Given the description of an element on the screen output the (x, y) to click on. 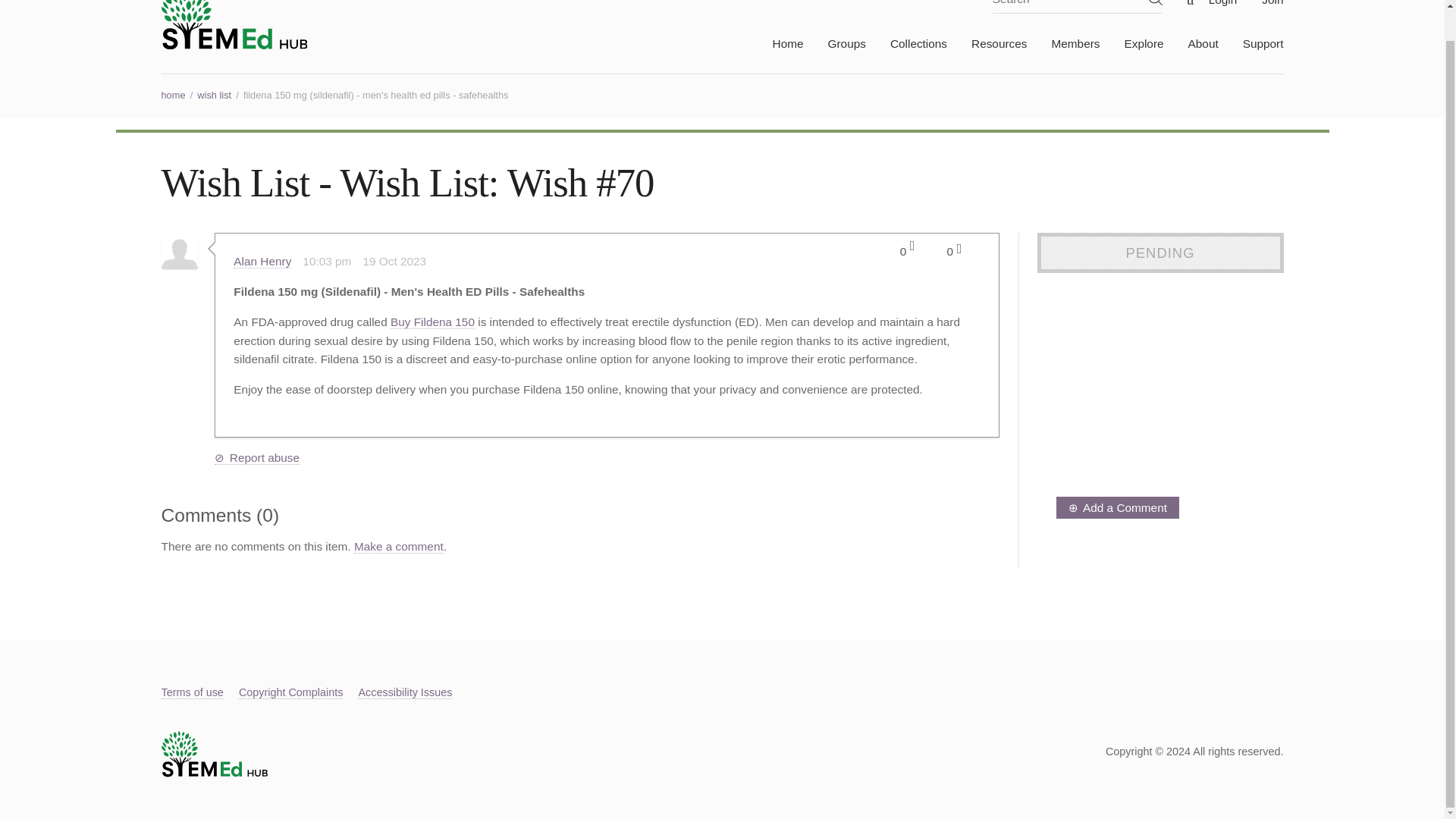
Vote down :: Please login to vote. (958, 249)
Alan Henry (261, 261)
Vote up :: Please login to vote. (912, 249)
wish list (213, 94)
Members (1062, 49)
Collections (906, 49)
Resources (986, 49)
stemedhub (213, 773)
About (1190, 49)
Explore (1131, 49)
Login (1211, 6)
Link to this entry (360, 260)
Home (775, 49)
stemedhub (233, 24)
Groups (834, 49)
